Given the description of an element on the screen output the (x, y) to click on. 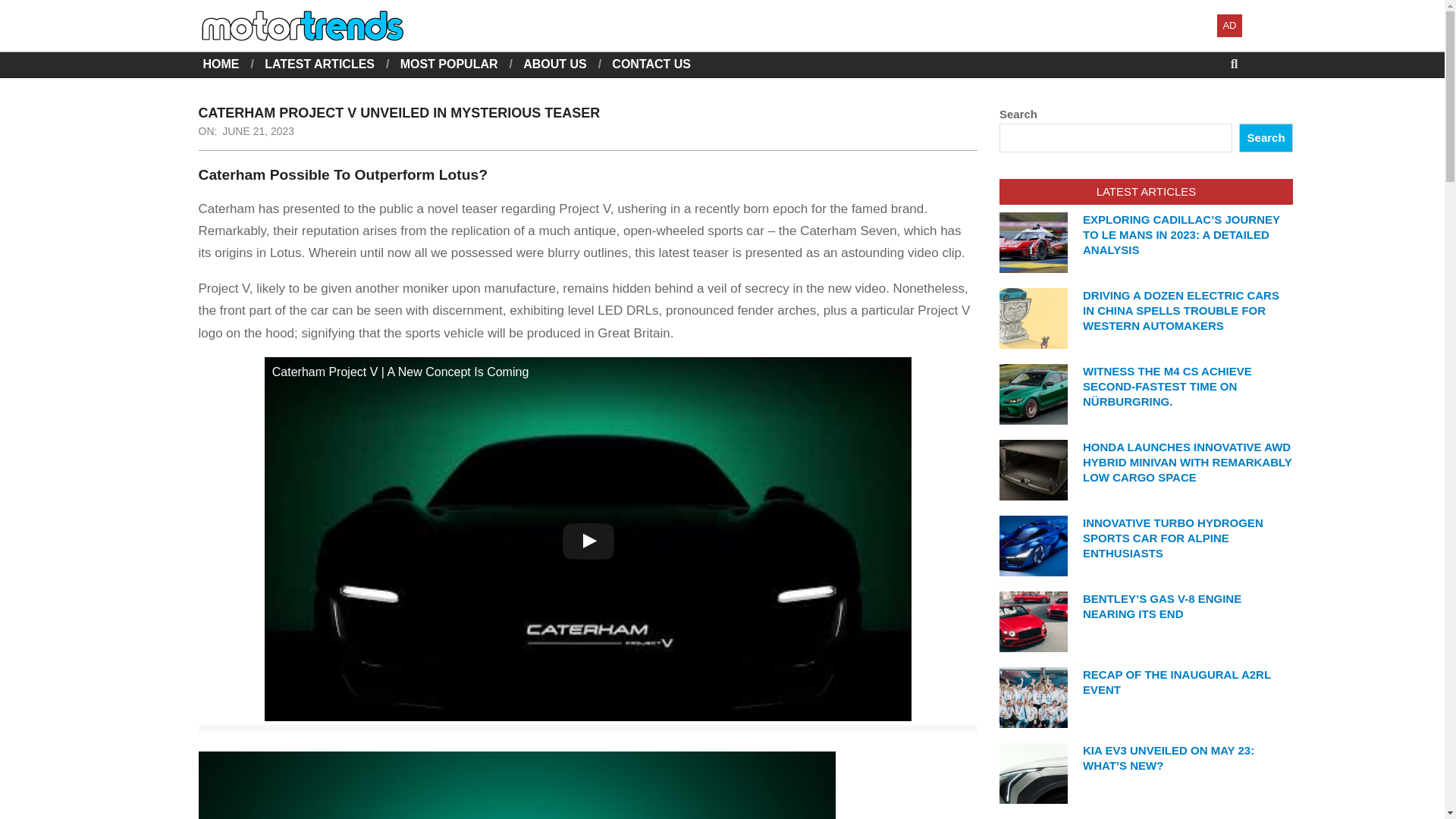
Search (24, 9)
CONTACT US (650, 63)
Search (1265, 137)
ABOUT US (554, 63)
RECAP OF THE INAUGURAL A2RL EVENT (1177, 682)
MOST POPULAR (448, 63)
LATEST ARTICLES (319, 63)
Wednesday, June 21, 2023, 2:36 pm (258, 131)
